Given the description of an element on the screen output the (x, y) to click on. 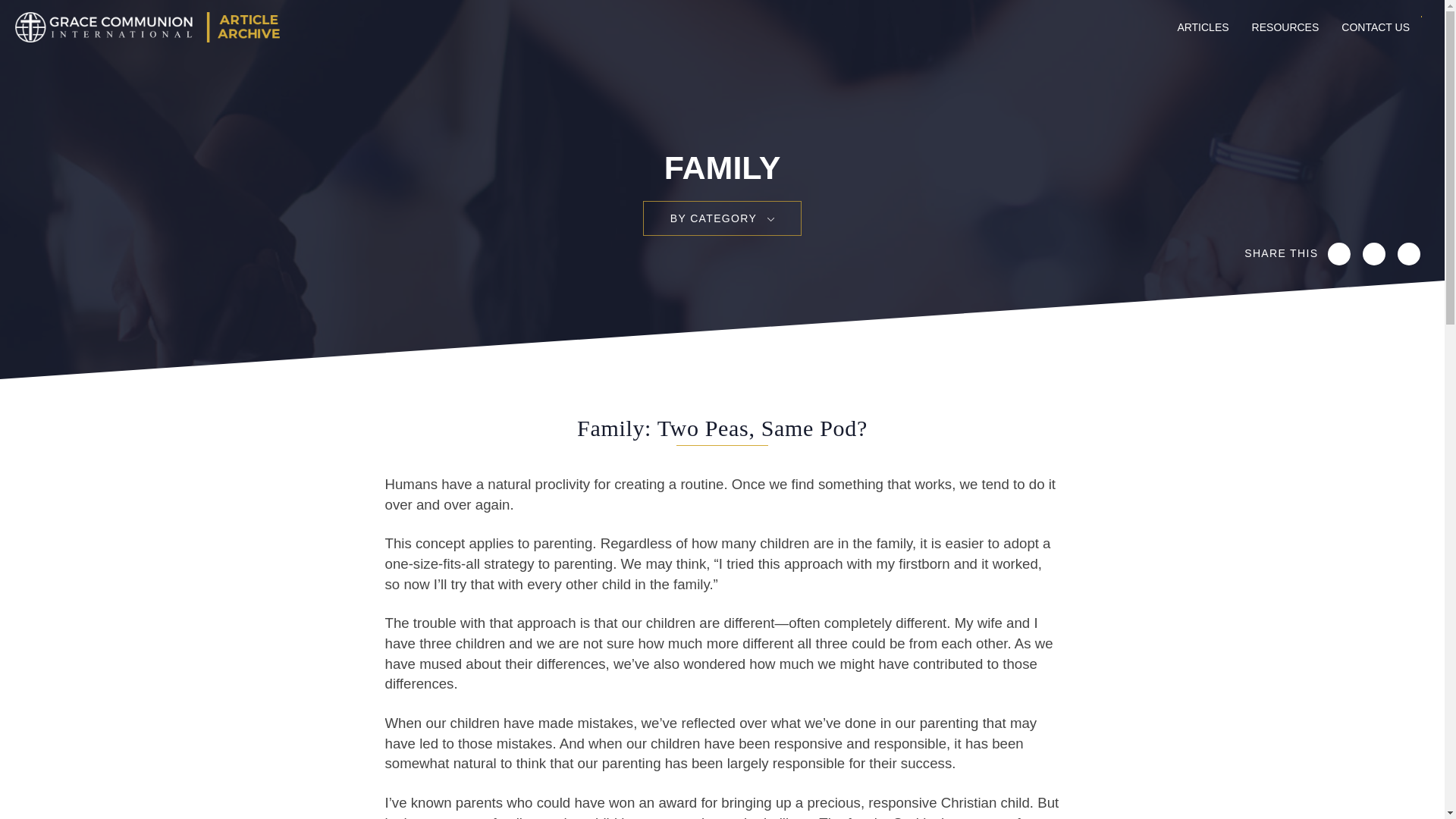
GCI Archive (144, 27)
ARTICLES (1203, 26)
CONTACT US (1375, 26)
RESOURCES (1285, 26)
